Given the description of an element on the screen output the (x, y) to click on. 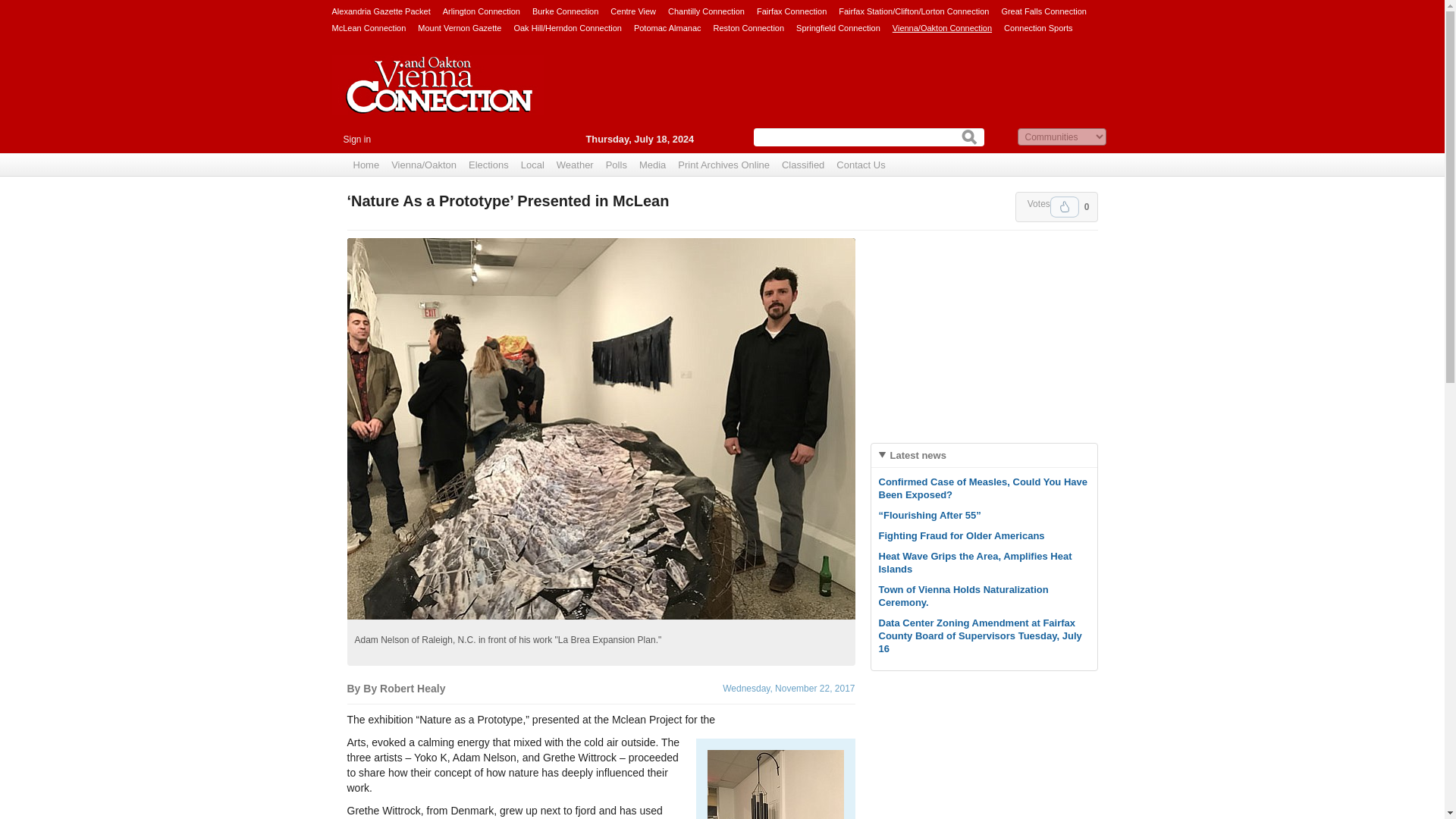
Mount Vernon Gazette (458, 27)
Vienna Connection (437, 96)
Alexandria Gazette Packet (380, 11)
McLean Connection (368, 27)
Arlington Connection (480, 11)
Fairfax Connection (792, 11)
Connection Sports (1038, 27)
Great Falls Connection (1043, 11)
Chantilly Connection (706, 11)
Centre View (633, 11)
Reston Connection (748, 27)
Burke Connection (565, 11)
Sign in (356, 139)
Springfield Connection (838, 27)
Elections (489, 164)
